Given the description of an element on the screen output the (x, y) to click on. 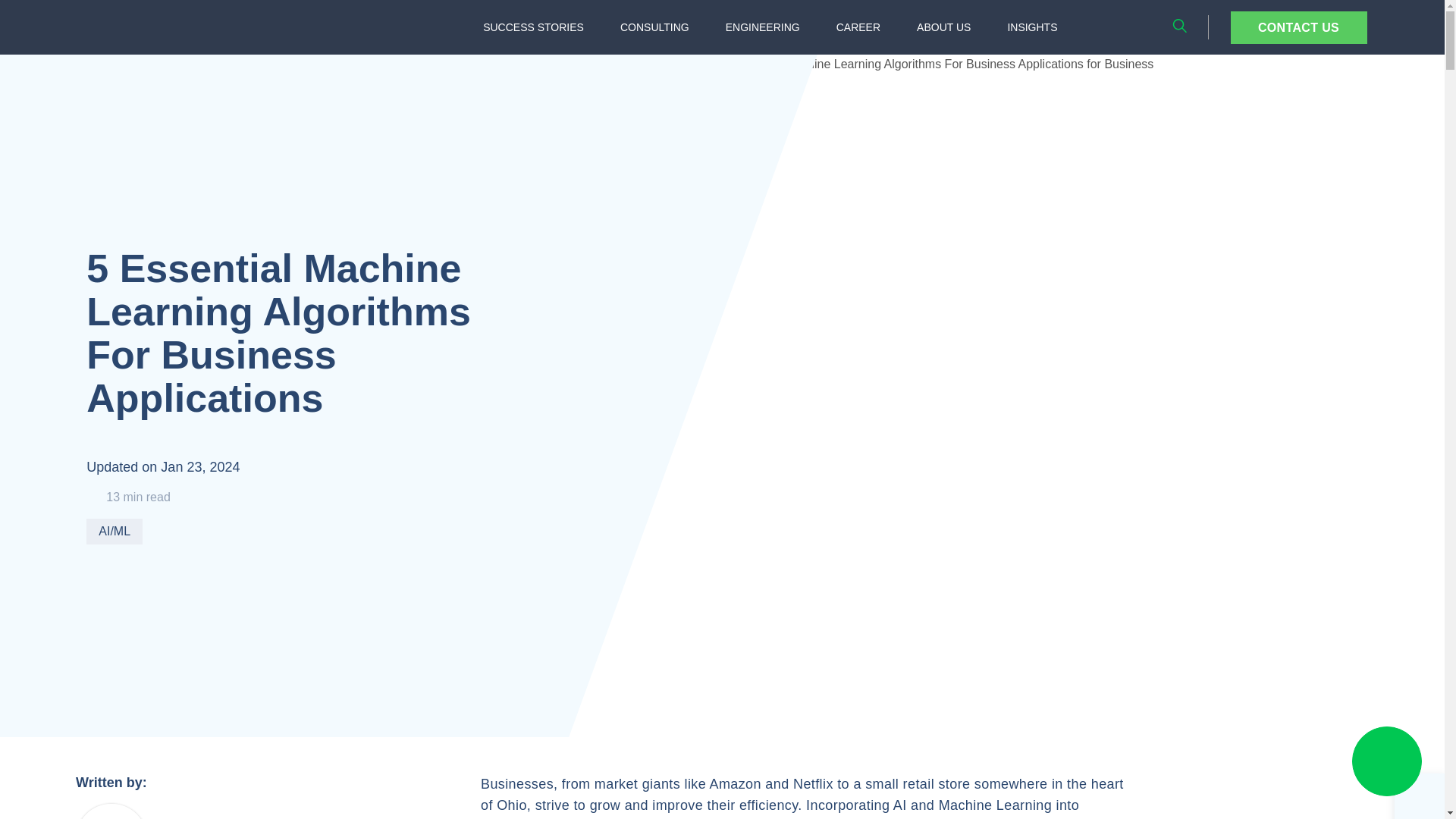
INSIGHTS (1031, 27)
CONSULTING (654, 27)
ABOUT US (943, 27)
ENGINEERING (762, 27)
CAREER (858, 27)
SUCCESS STORIES (532, 27)
Molodoria (111, 811)
